Given the description of an element on the screen output the (x, y) to click on. 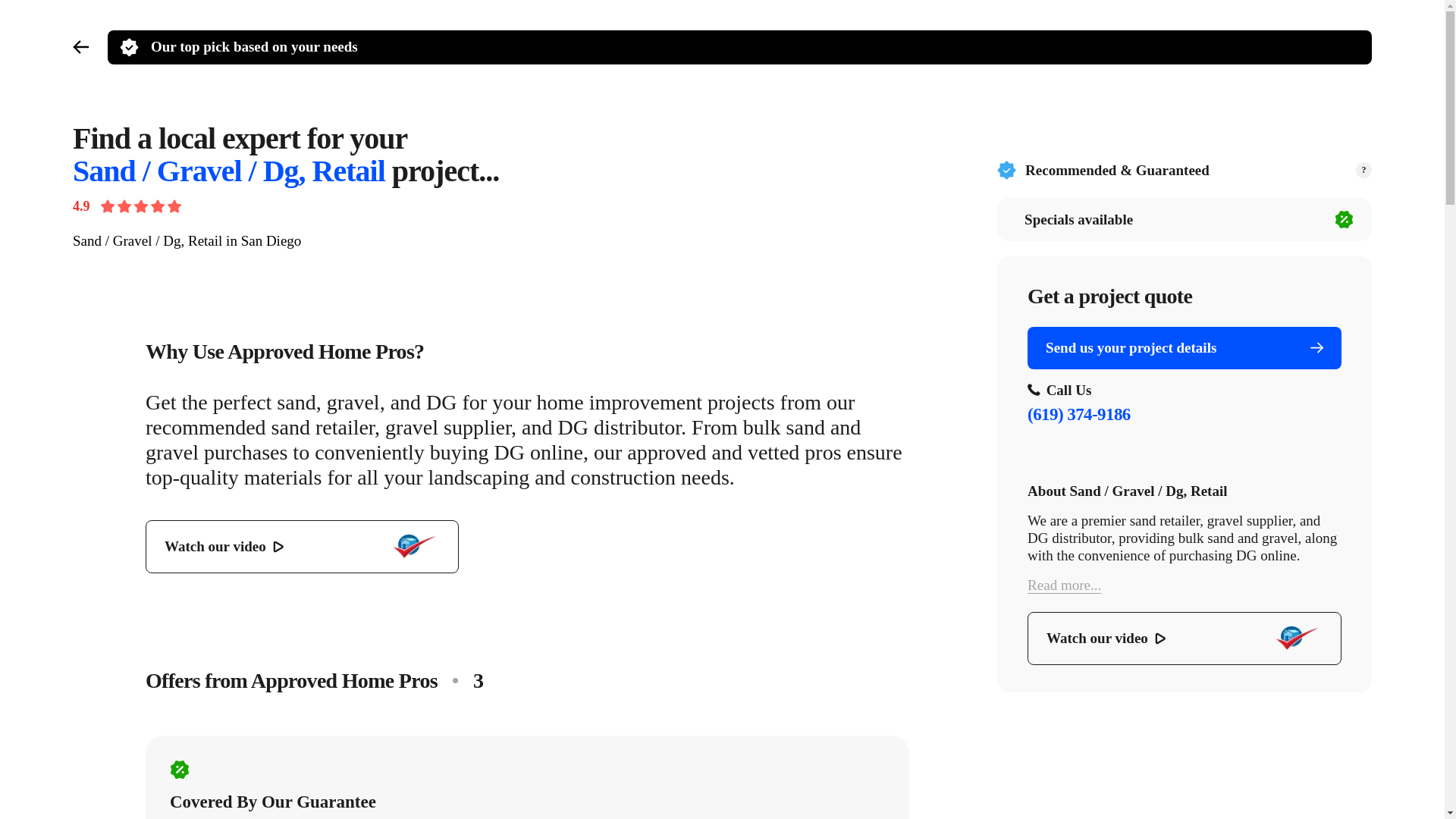
Watch our video (301, 546)
? (1363, 170)
Watch our video (1183, 638)
Send us your project details (1183, 347)
Read more... (1183, 584)
